Given the description of an element on the screen output the (x, y) to click on. 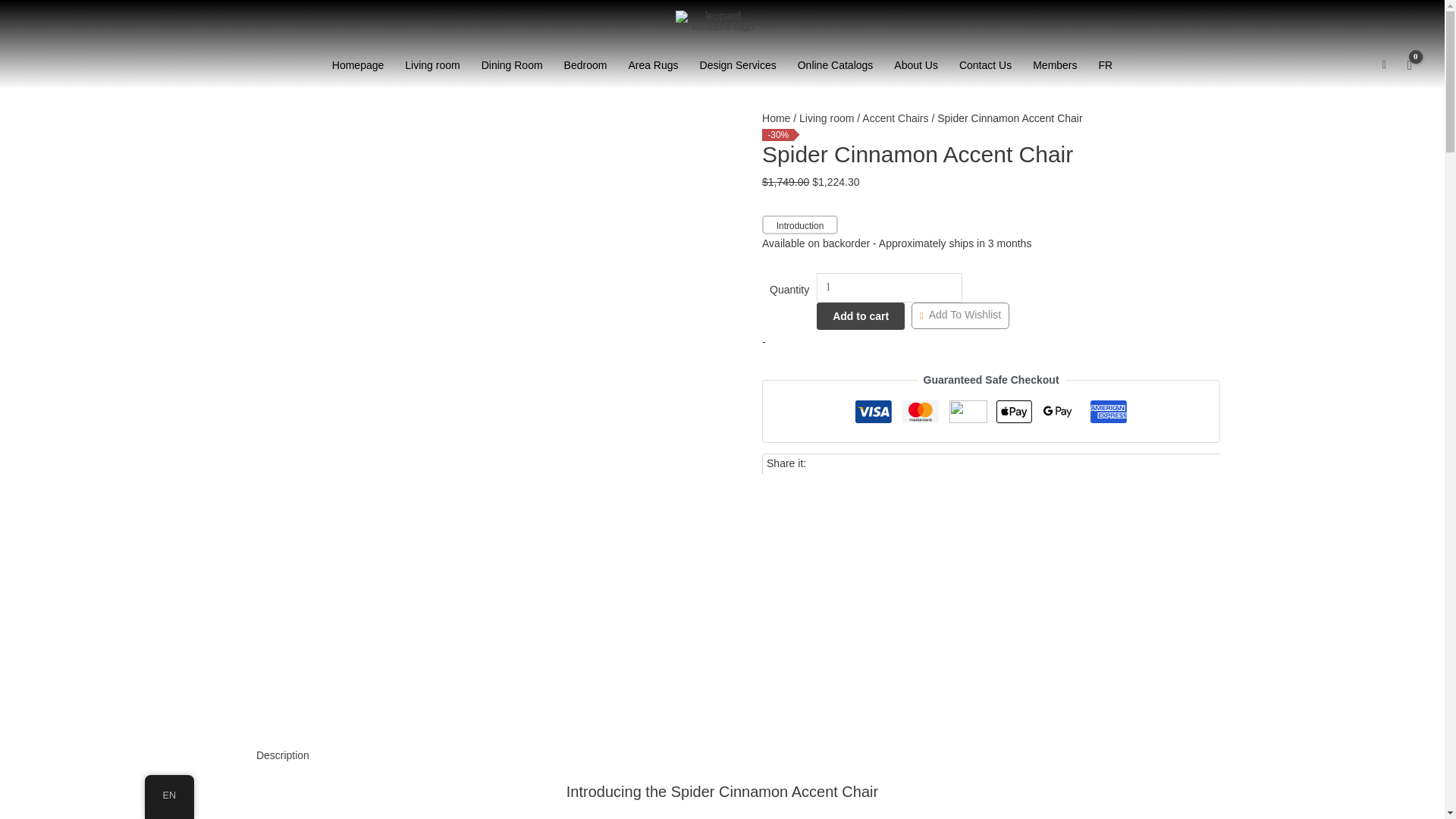
Online Catalogs (835, 64)
Living room (432, 64)
Contact Us (985, 64)
Dining Room (511, 64)
About Us (916, 64)
1 (889, 287)
Design Services (737, 64)
Area Rugs (652, 64)
Members (1054, 64)
Homepage (357, 64)
